Given the description of an element on the screen output the (x, y) to click on. 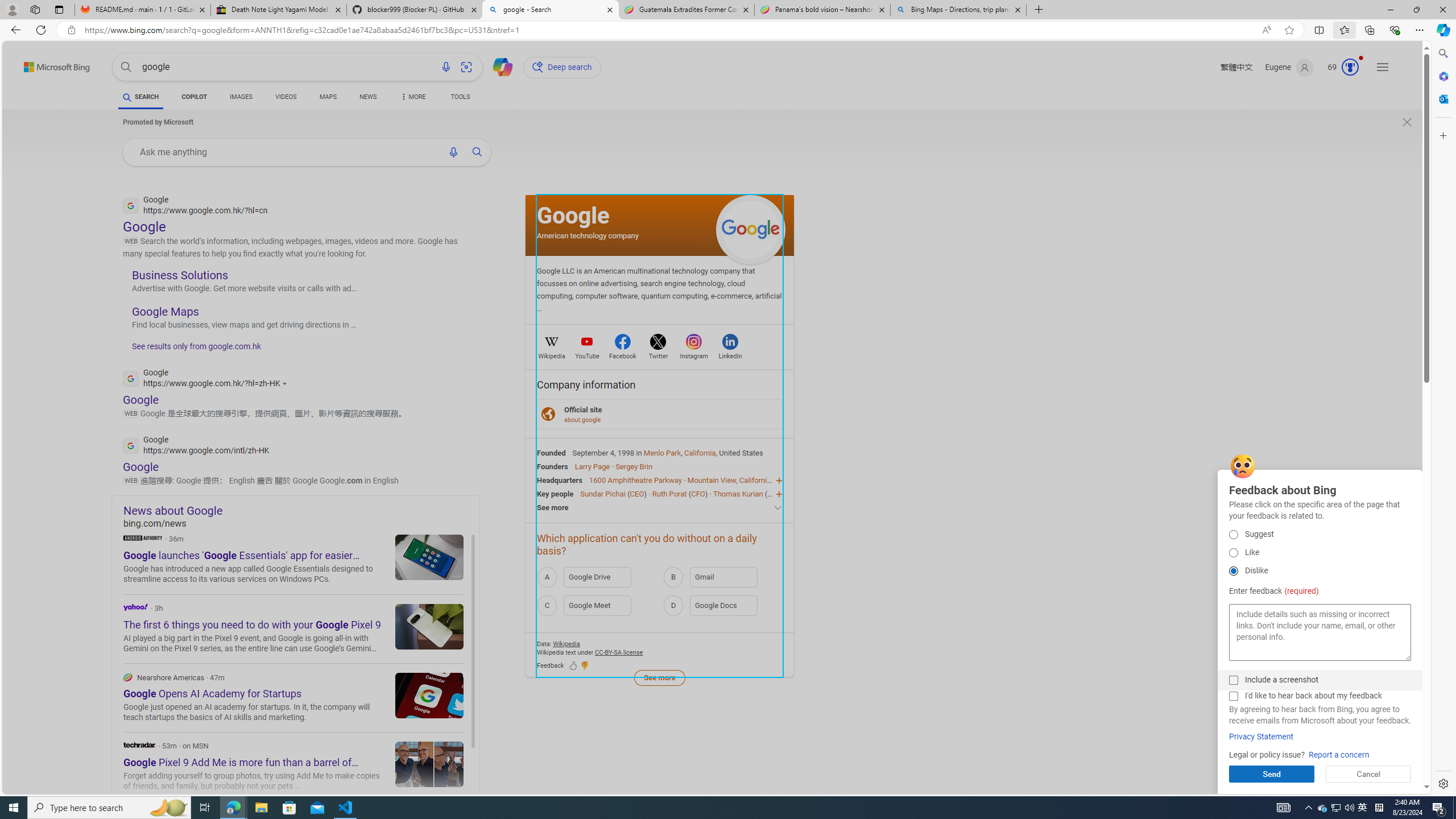
Suggest (1232, 533)
Privacy Statement (1261, 737)
Include a screenshot (1232, 679)
